Given the description of an element on the screen output the (x, y) to click on. 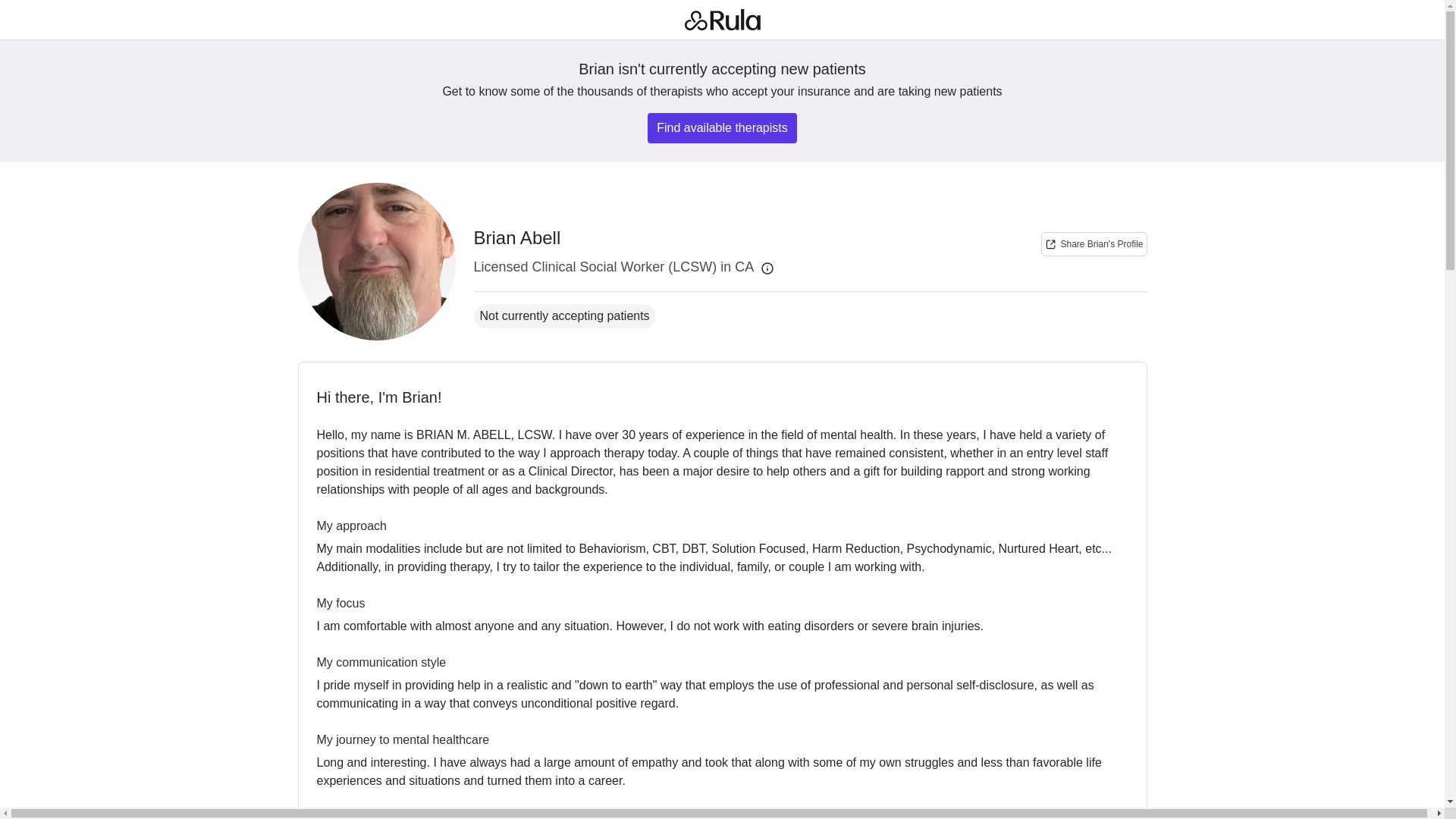
Find available therapists (1094, 243)
